Given the description of an element on the screen output the (x, y) to click on. 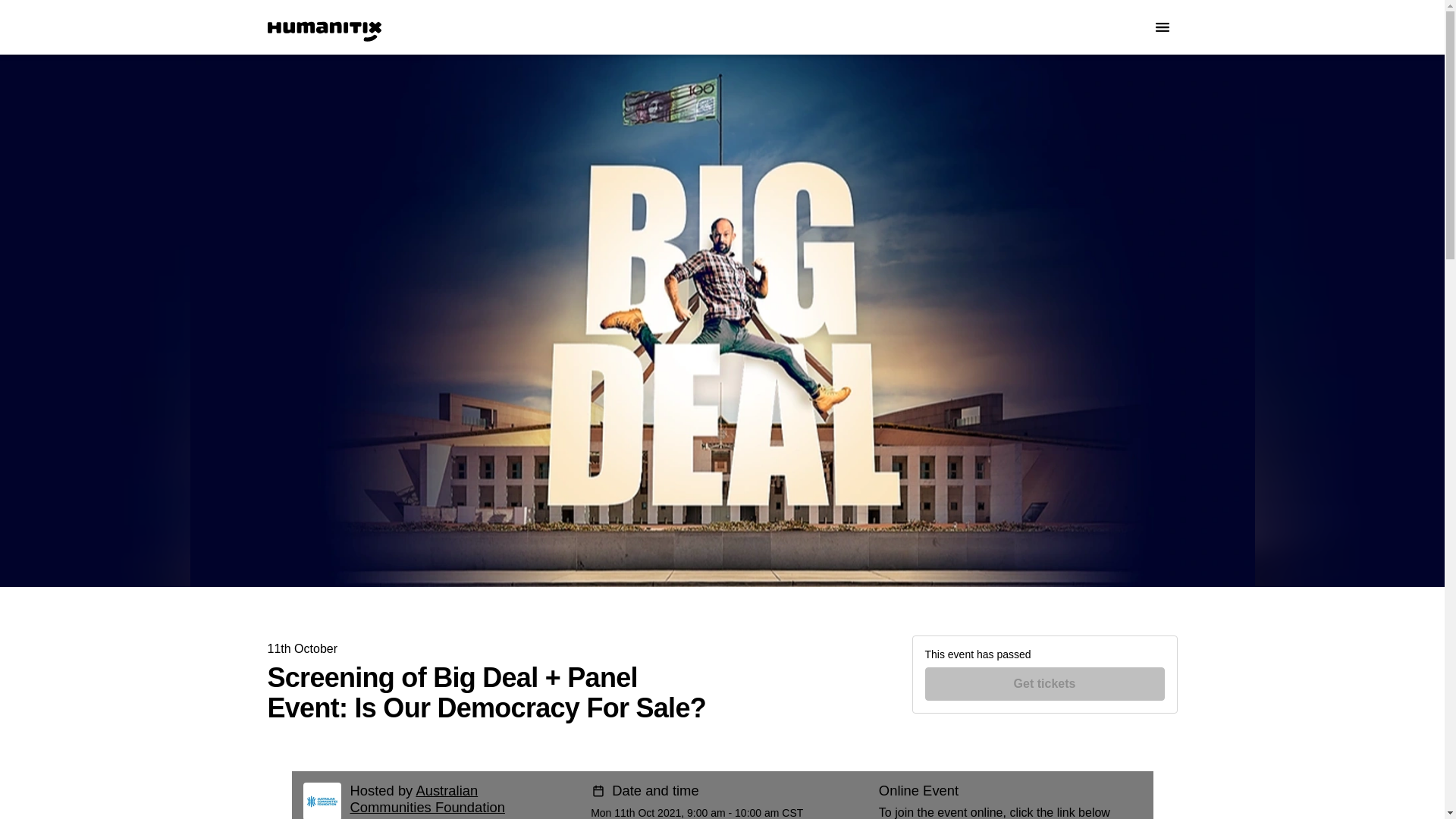
Australian Communities Foundation (427, 798)
Skip to Content (18, 18)
Get tickets (1044, 684)
